Given the description of an element on the screen output the (x, y) to click on. 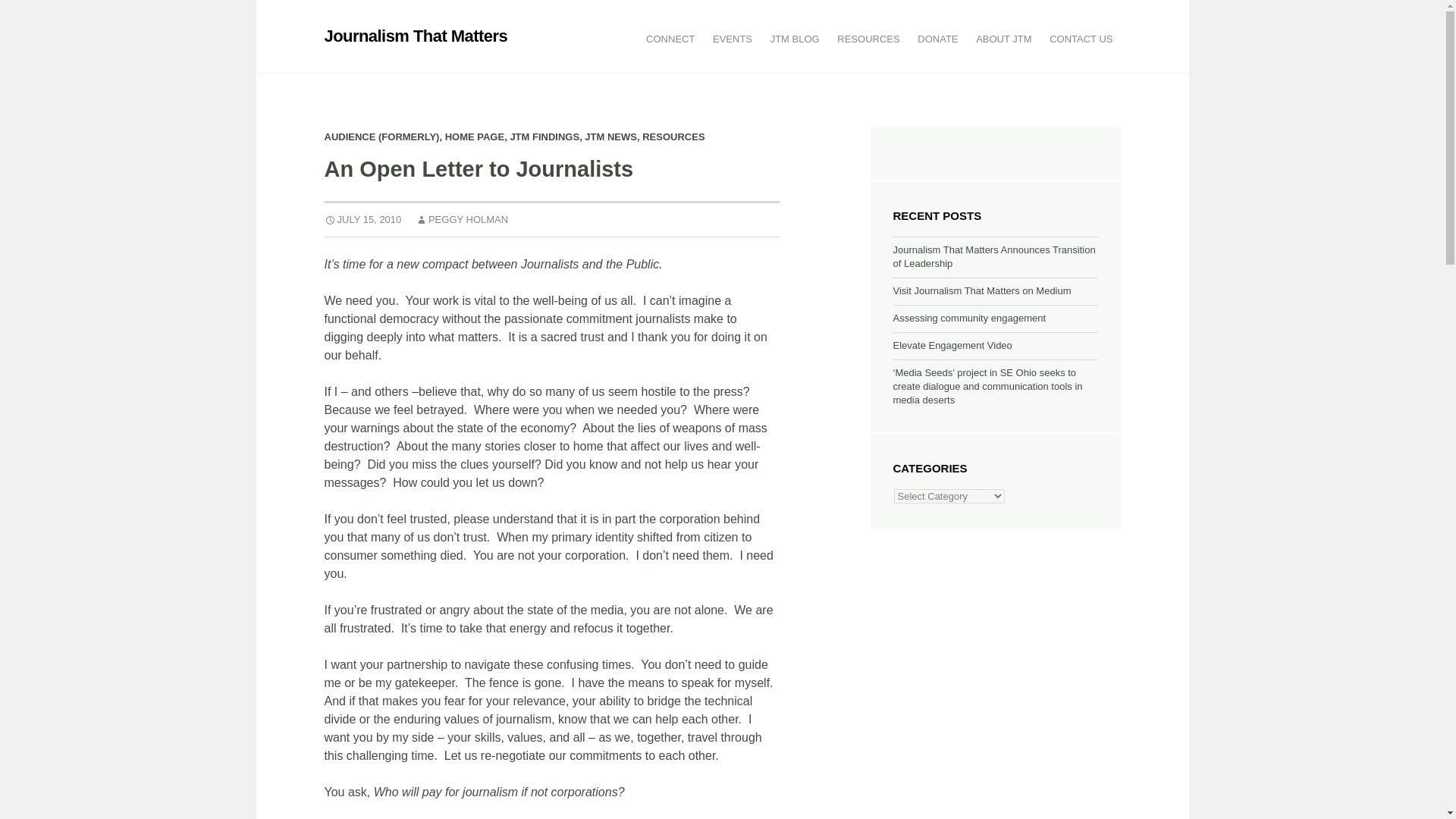
Journalism That Matters (416, 35)
8:57 pm (362, 219)
HOME PAGE (475, 136)
DONATE (937, 39)
Journalism That Matters (416, 35)
Elevate Engagement Video (952, 345)
JTM FINDINGS (544, 136)
ABOUT JTM (1003, 39)
JTM NEWS (611, 136)
